Given the description of an element on the screen output the (x, y) to click on. 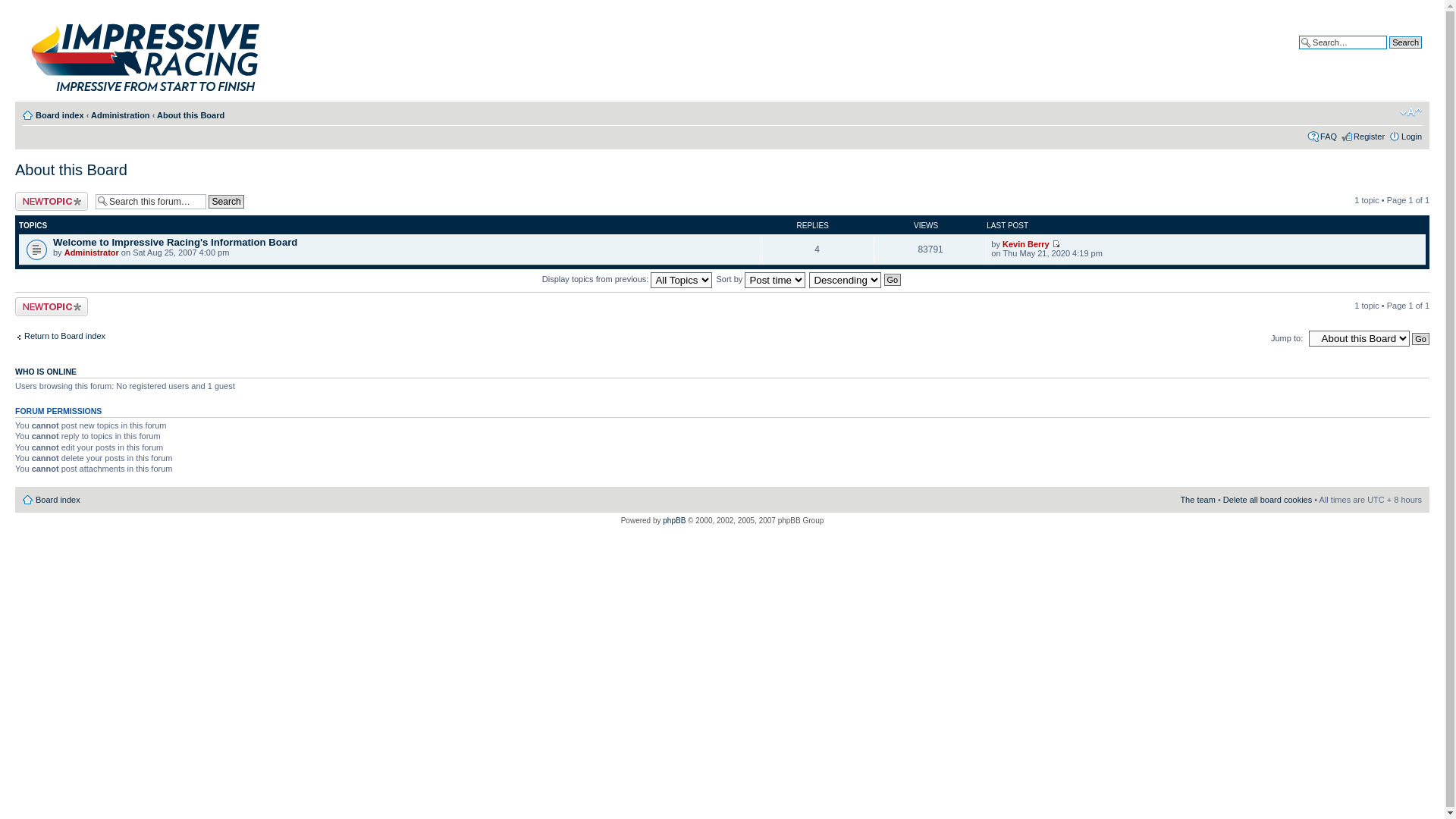
About this Board Element type: text (71, 169)
Advanced search Element type: text (1389, 53)
Login Element type: text (1411, 136)
Go Element type: text (1420, 338)
Administration Element type: text (120, 114)
Return to Board index Element type: text (60, 335)
Search for keywords Element type: hover (1342, 42)
Change font size Element type: text (1410, 112)
Kevin Berry Element type: text (1025, 243)
Administrator Element type: text (91, 252)
Go Element type: text (892, 279)
Board index Element type: text (59, 114)
Board index Element type: hover (175, 53)
Welcome to Impressive Racing's Information Board Element type: text (175, 241)
WHO IS ONLINE Element type: text (45, 371)
phpBB Element type: text (673, 520)
Search Element type: text (1405, 42)
About this Board Element type: text (190, 114)
View the latest post Element type: hover (1055, 243)
Board index Element type: text (51, 499)
The team Element type: text (1196, 499)
Delete all board cookies Element type: text (1267, 499)
Search Element type: text (225, 201)
FAQ Element type: text (1328, 136)
Register Element type: text (1368, 136)
